Given the description of an element on the screen output the (x, y) to click on. 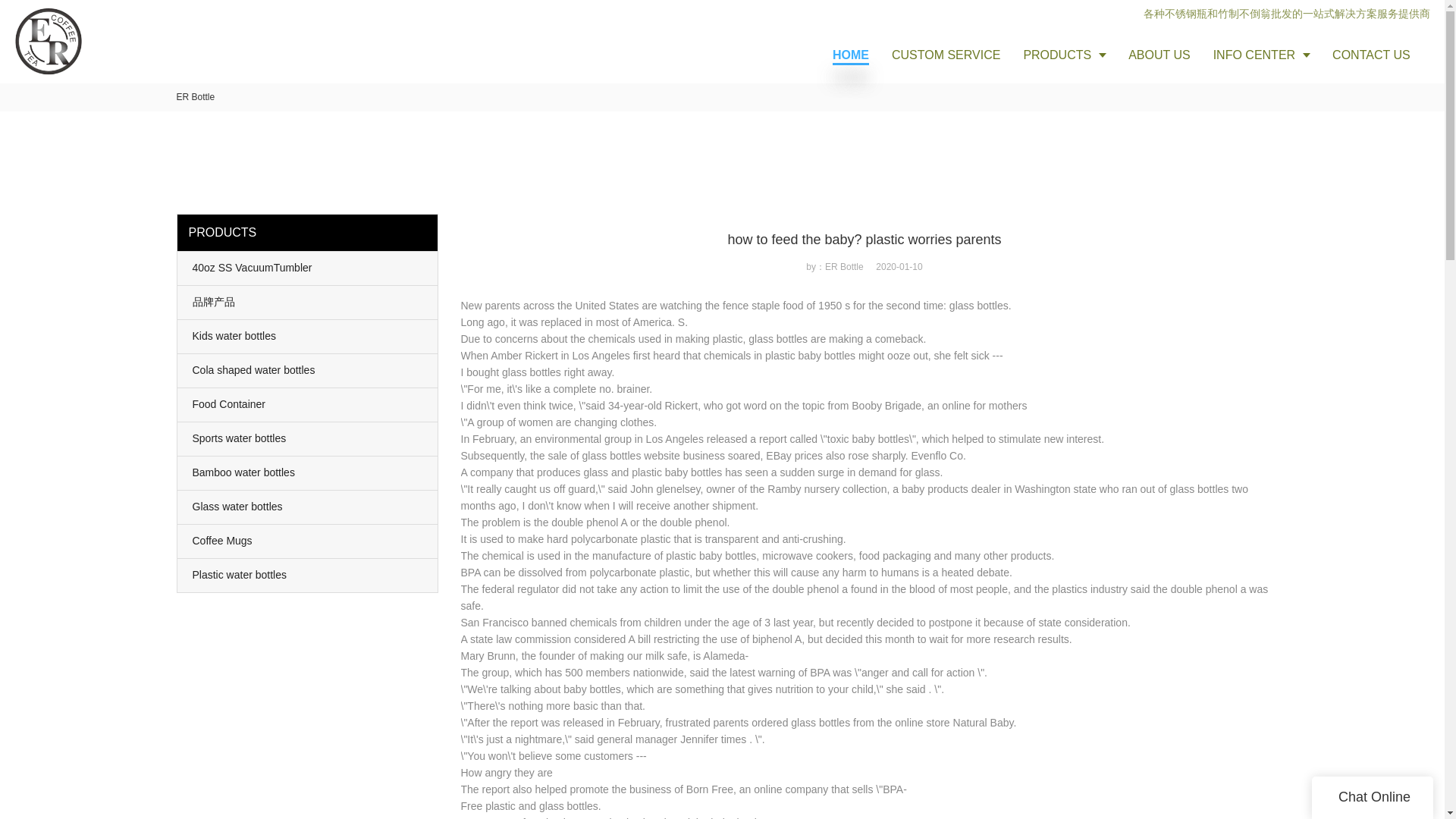
INFO CENTER (1261, 55)
ER Bottle (195, 96)
Sports water bottles (307, 438)
Coffee Mugs (307, 540)
40oz SS VacuumTumbler (307, 268)
Glass water bottles (307, 507)
Cola shaped water bottles (307, 370)
Bamboo water bottles (307, 472)
Food Container (307, 404)
ABOUT US (1159, 55)
